Given the description of an element on the screen output the (x, y) to click on. 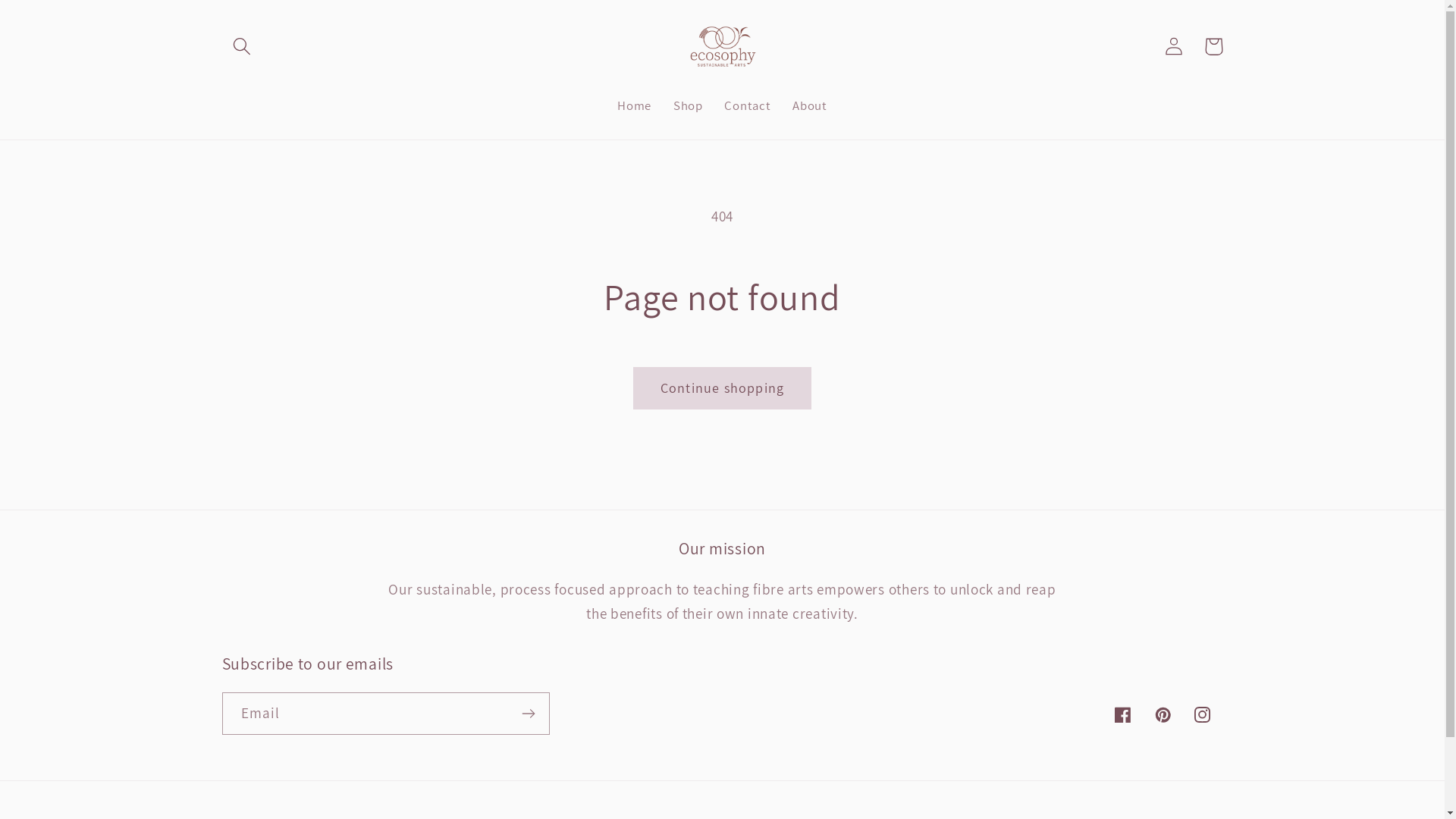
Facebook Element type: text (1122, 714)
Home Element type: text (634, 106)
Log in Element type: text (1173, 46)
Cart Element type: text (1213, 46)
Pinterest Element type: text (1162, 714)
Continue shopping Element type: text (722, 388)
About Element type: text (809, 106)
Instagram Element type: text (1203, 714)
Contact Element type: text (747, 106)
Shop Element type: text (687, 106)
